Given the description of an element on the screen output the (x, y) to click on. 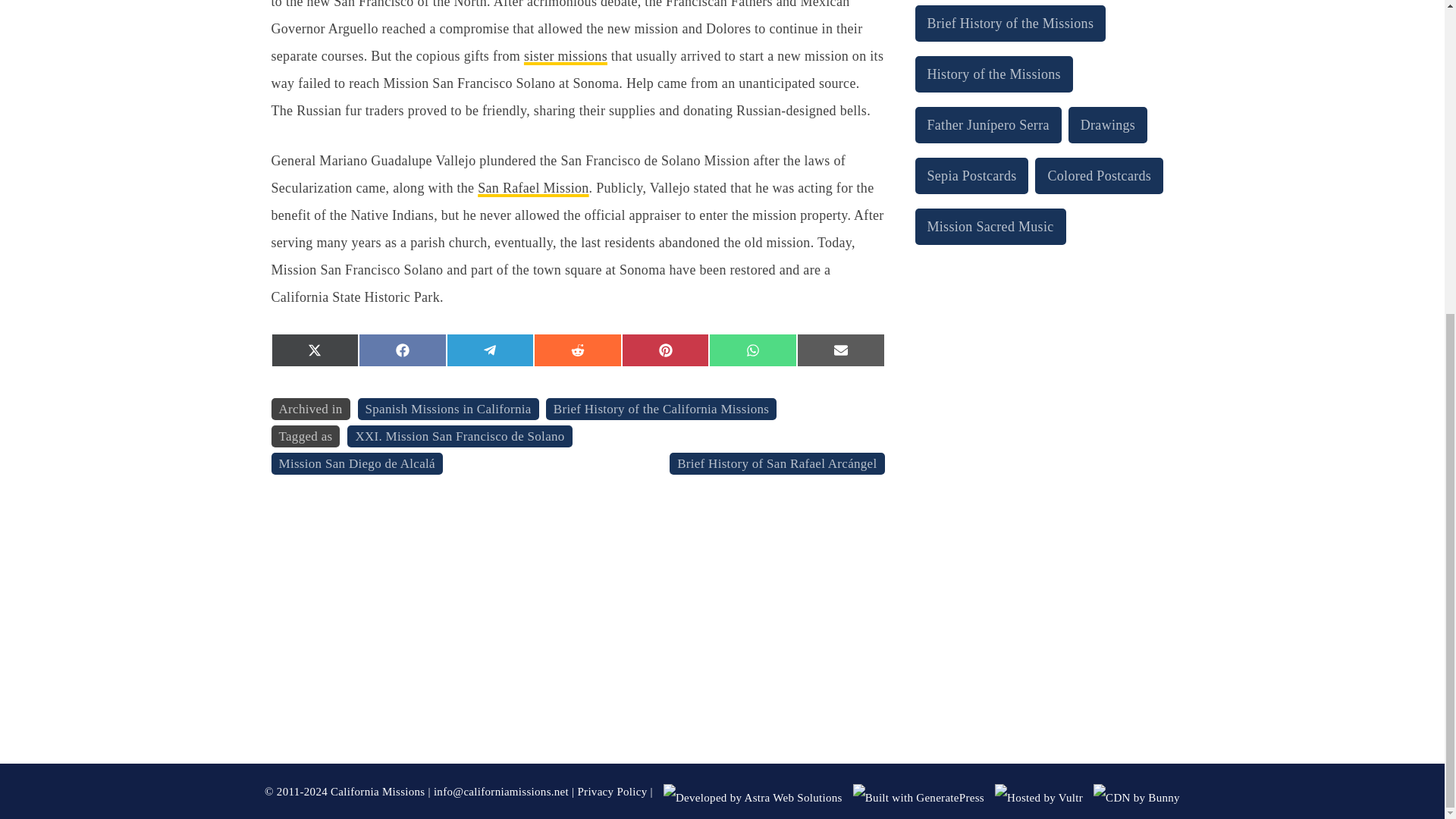
CDN by Bunny (1136, 797)
Hosted by Vultr (1038, 797)
Developed by Astra Web Solutions (753, 797)
Built with GeneratePress (918, 797)
